Given the description of an element on the screen output the (x, y) to click on. 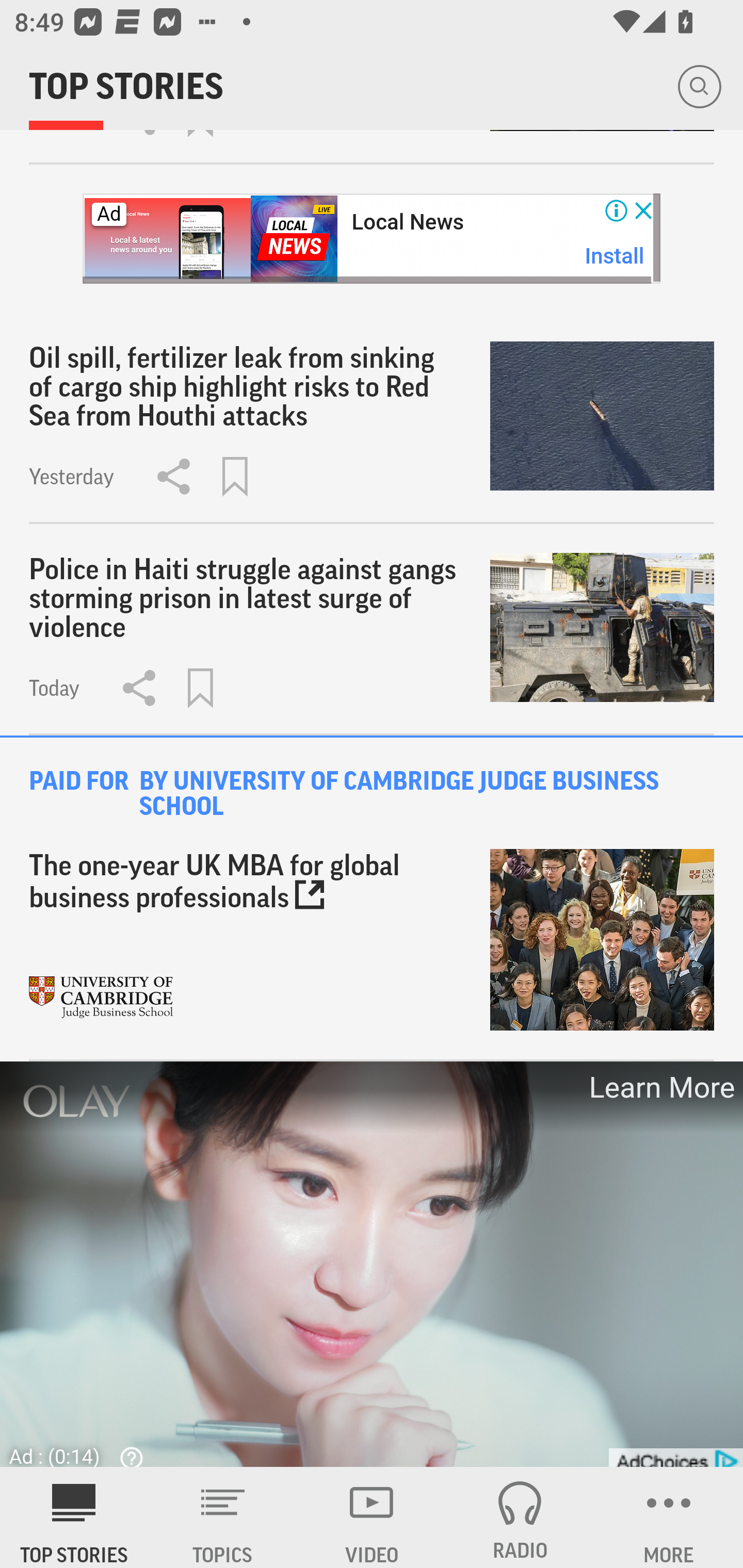
Local News (407, 222)
Install (614, 256)
Learn More (660, 1087)
Ad : (0:14) Why This Ad? (82, 1450)
Why This Ad? (126, 1455)
get?name=admarker-full-tl (675, 1457)
AP News TOP STORIES (74, 1517)
TOPICS (222, 1517)
VIDEO (371, 1517)
RADIO (519, 1517)
MORE (668, 1517)
